Given the description of an element on the screen output the (x, y) to click on. 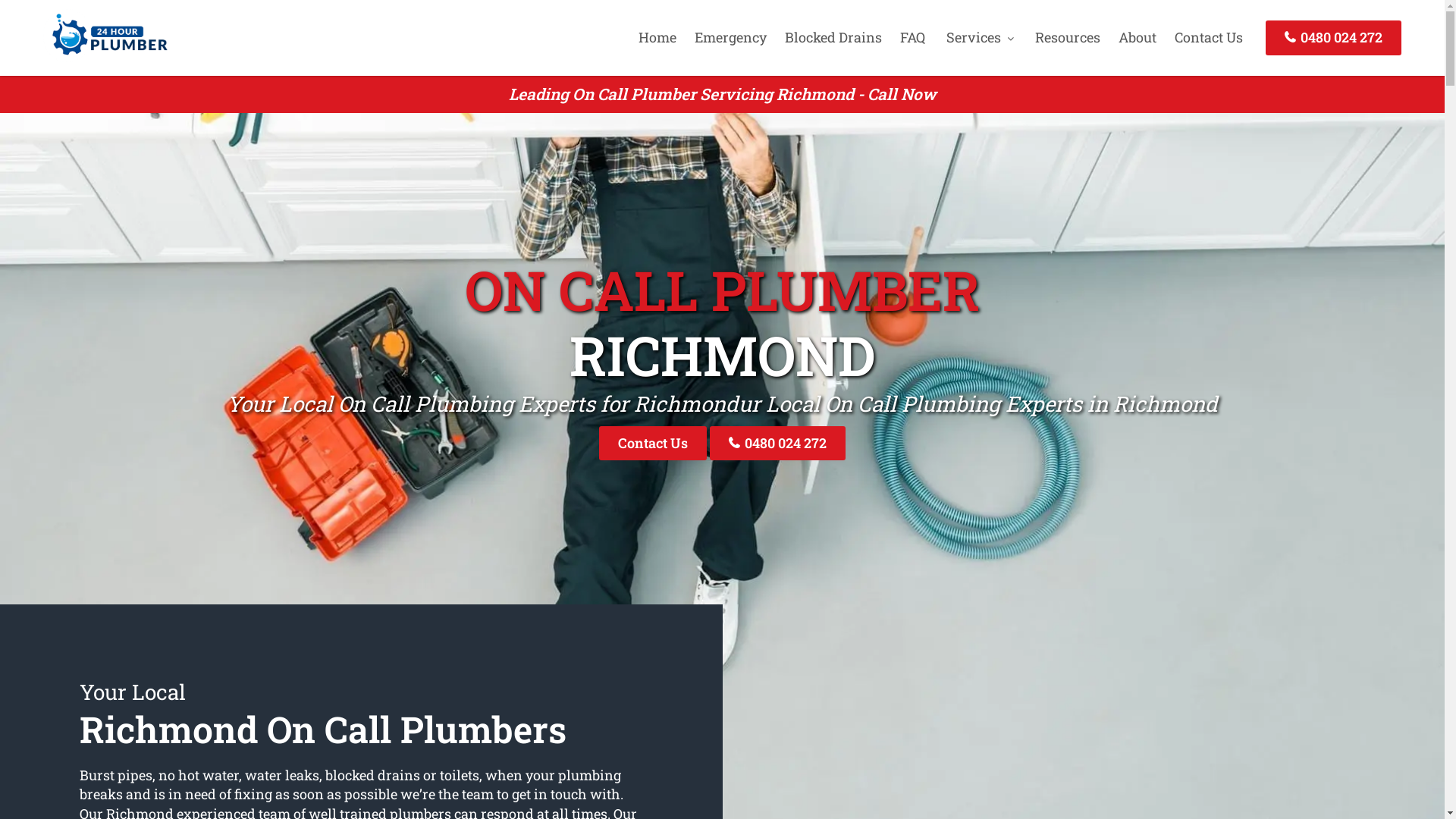
Resources Element type: text (1067, 37)
Home Element type: text (657, 37)
24 Hour Plumber Element type: hover (105, 56)
Emergency Element type: text (730, 37)
Contact Us Element type: text (1208, 37)
Blocked Drains Element type: text (833, 37)
About Element type: text (1137, 37)
Services Element type: text (979, 37)
0480 024 272 Element type: text (1333, 37)
Contact Us Element type: text (652, 443)
FAQ Element type: text (912, 37)
0480 024 272 Element type: text (777, 443)
